Given the description of an element on the screen output the (x, y) to click on. 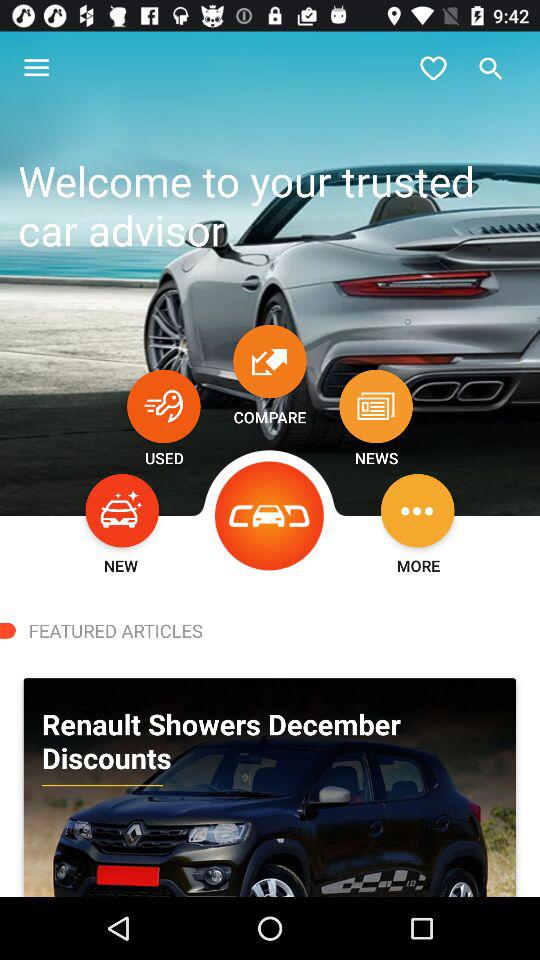
press the item below news icon (417, 510)
